Given the description of an element on the screen output the (x, y) to click on. 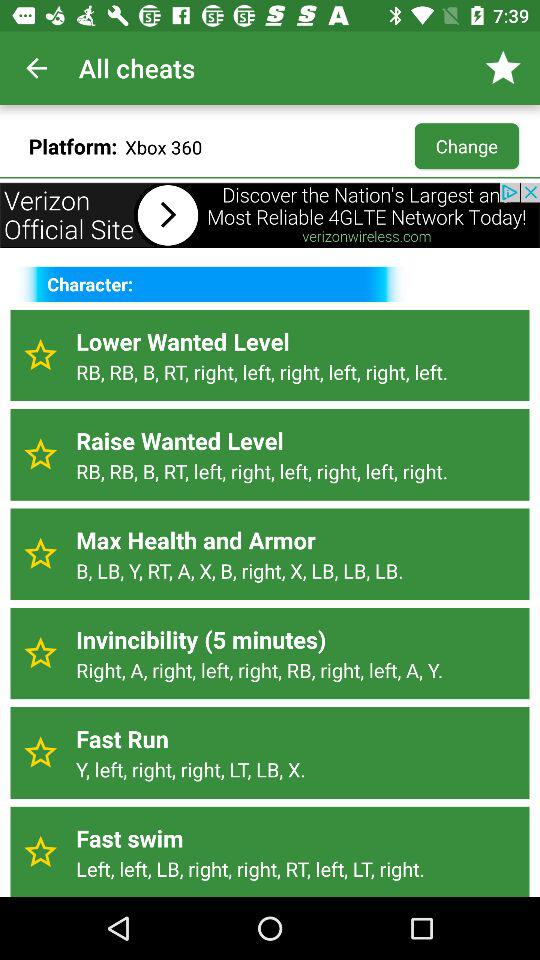
go to favorite (40, 553)
